Given the description of an element on the screen output the (x, y) to click on. 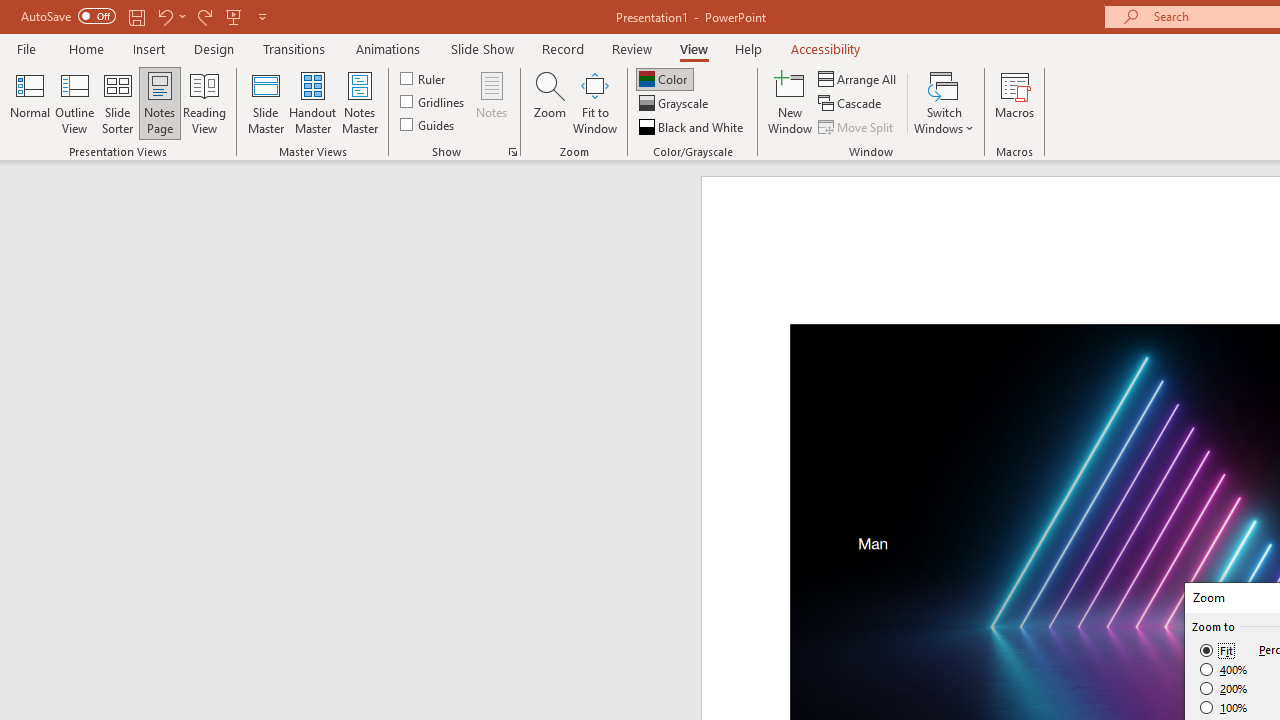
Notes Master (360, 102)
Fit to Window (594, 102)
Grid Settings... (512, 151)
Gridlines (433, 101)
Arrange All (858, 78)
